Given the description of an element on the screen output the (x, y) to click on. 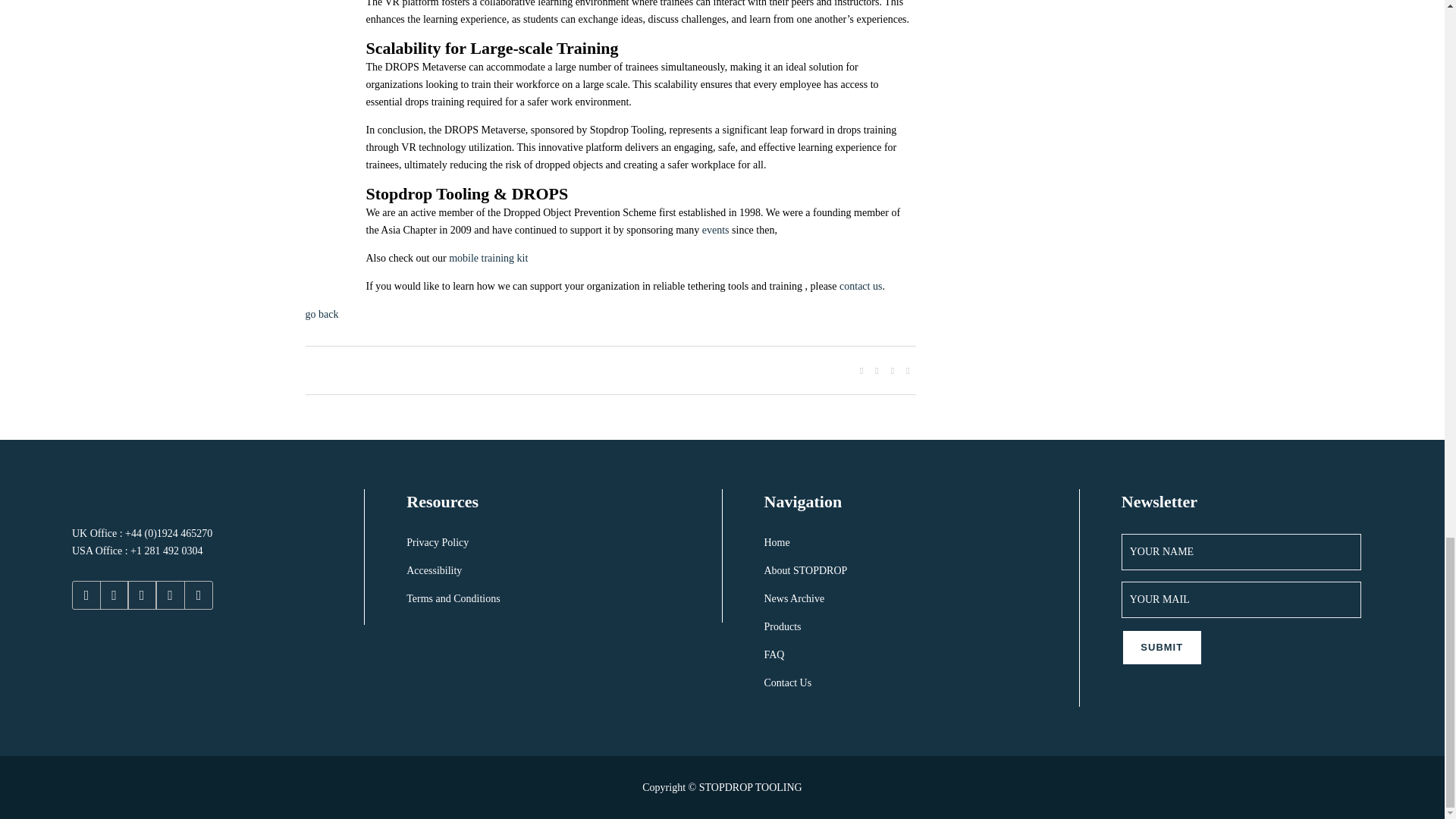
contact us (861, 285)
mobile training kit  (489, 257)
events (715, 229)
go back (320, 314)
contact us (861, 285)
Submit (1161, 647)
